Given the description of an element on the screen output the (x, y) to click on. 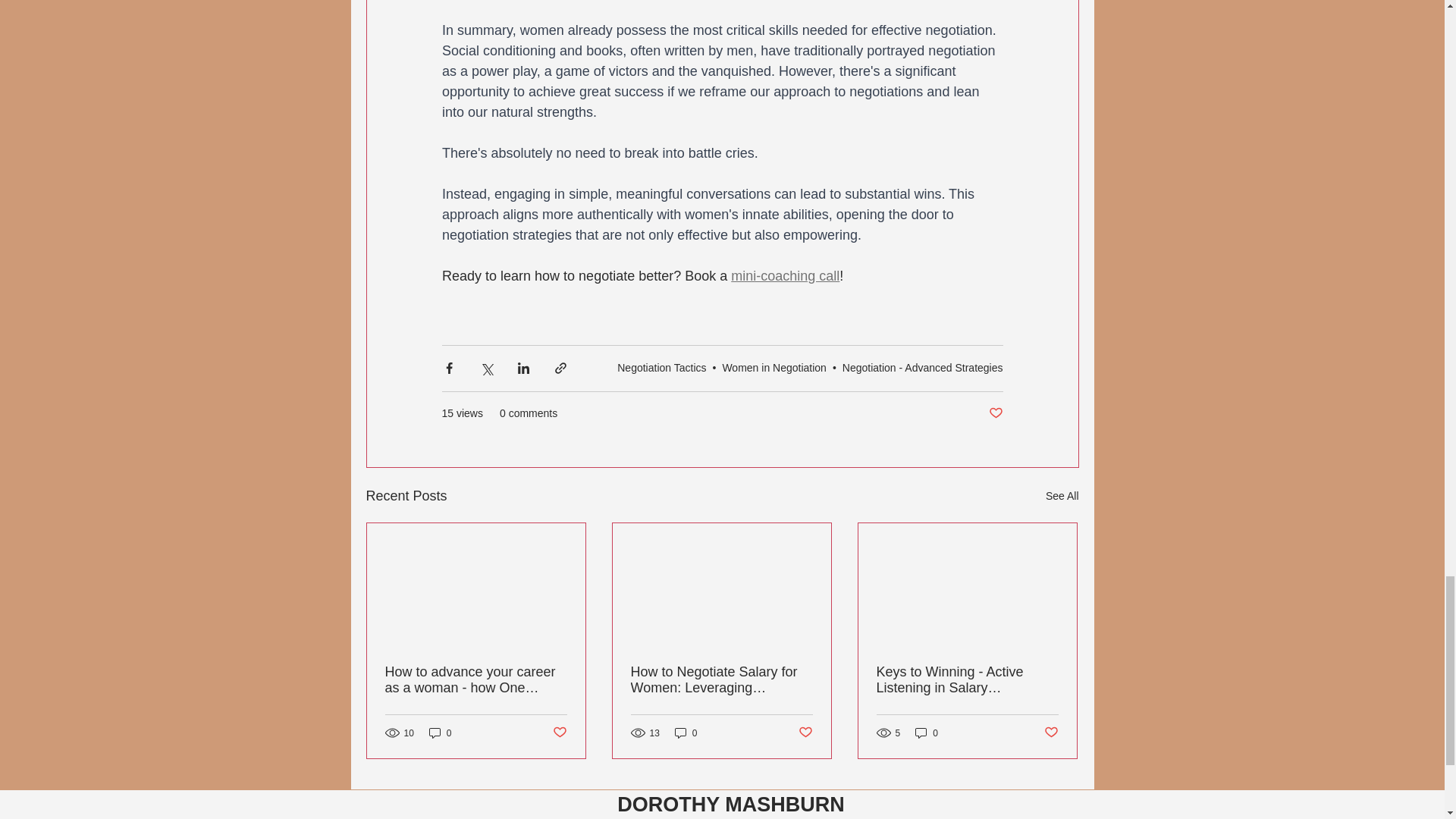
Negotiation Tactics (661, 367)
mini-coaching call (785, 275)
Women in Negotiation (773, 367)
Negotiation - Advanced Strategies (923, 367)
